Given the description of an element on the screen output the (x, y) to click on. 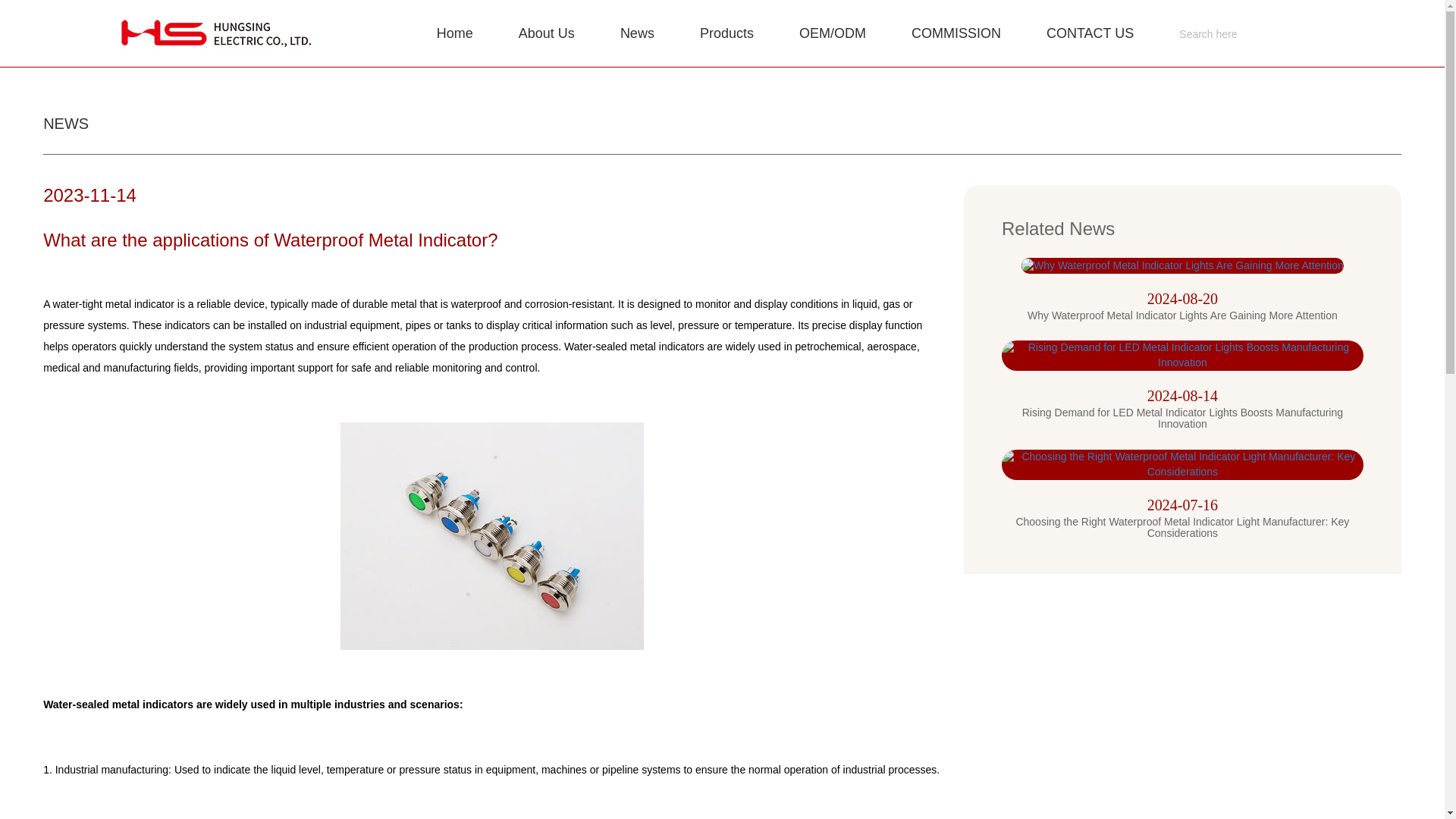
Products (726, 33)
Home (454, 33)
COMMISSION (955, 33)
About Us (546, 33)
Products (726, 33)
News (636, 33)
News (636, 33)
CONTACT US (1089, 33)
